Given the description of an element on the screen output the (x, y) to click on. 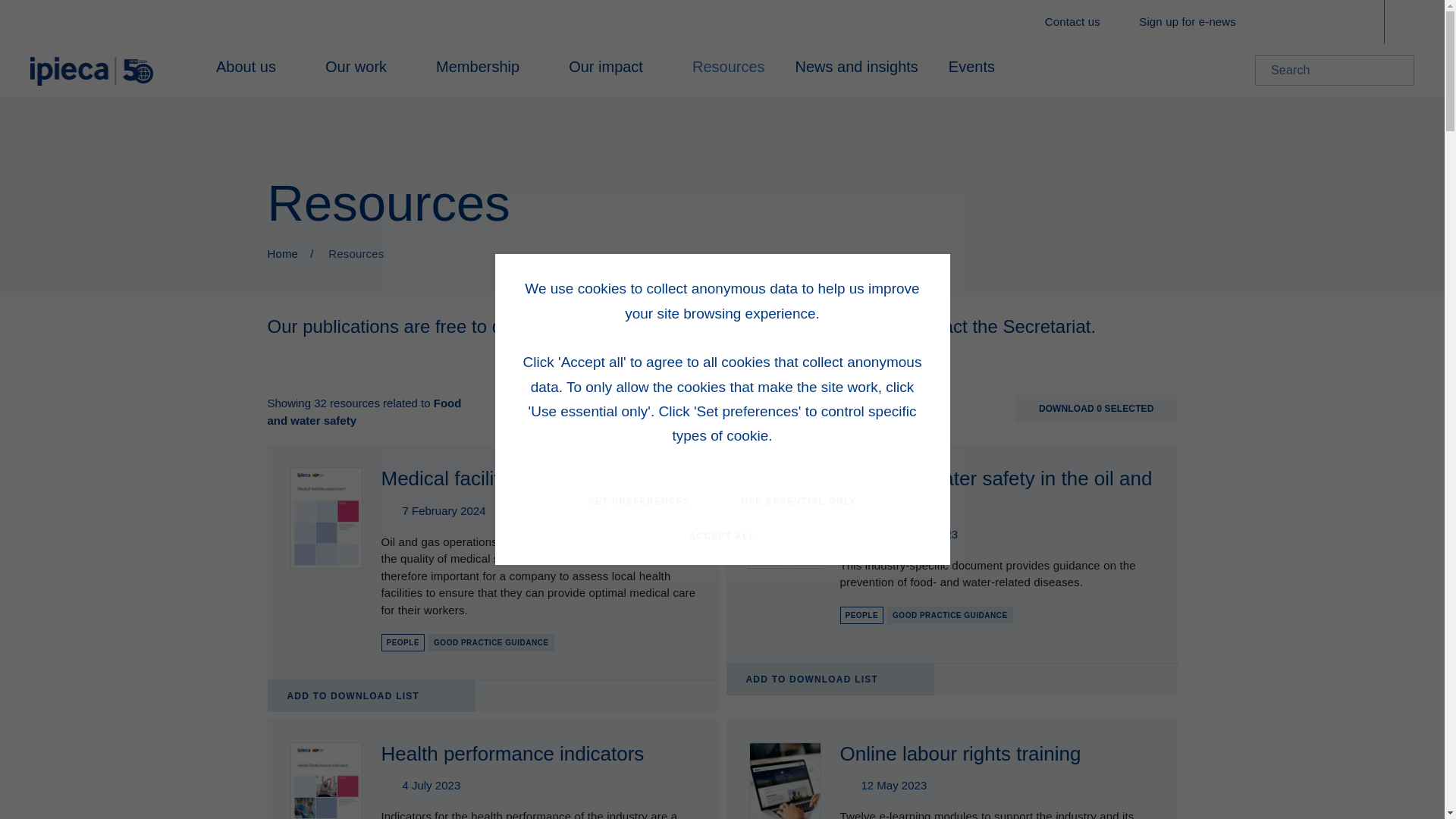
Membership (486, 70)
Email Sign up for e-news (1177, 22)
6694 (437, 698)
About us (255, 70)
Contact us (1072, 22)
Search (1397, 70)
Loop (1397, 70)
MEMBERS AREA (1334, 22)
Our work (365, 70)
13929 (896, 681)
Email (1125, 22)
